Given the description of an element on the screen output the (x, y) to click on. 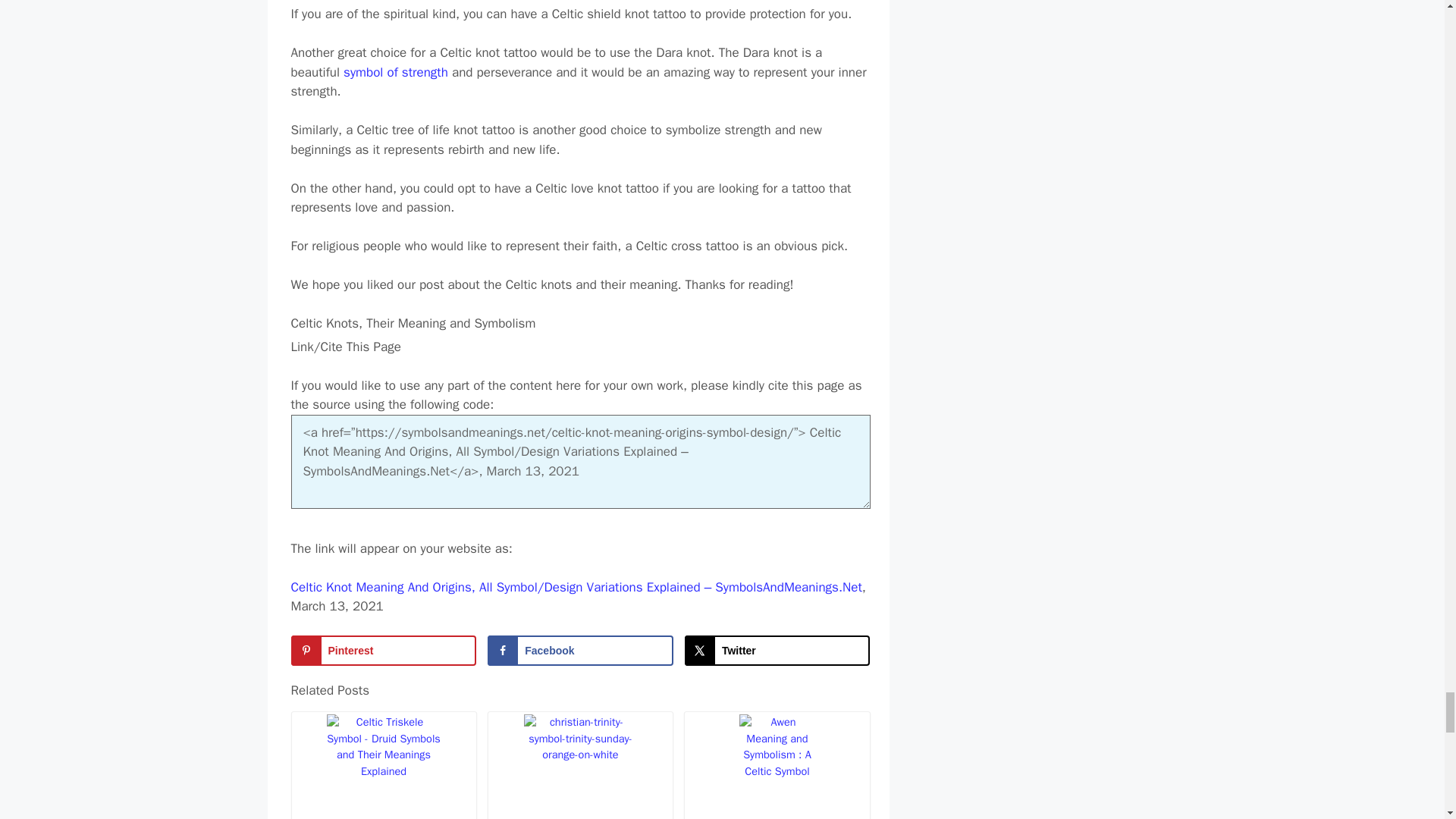
6 Trinity Symbols Compared: Irish and Christian (579, 766)
Celtic Knots, Their Meaning and Symbolism (580, 323)
Share on Facebook (579, 650)
Save to Pinterest (383, 650)
Share on X (776, 650)
